Given the description of an element on the screen output the (x, y) to click on. 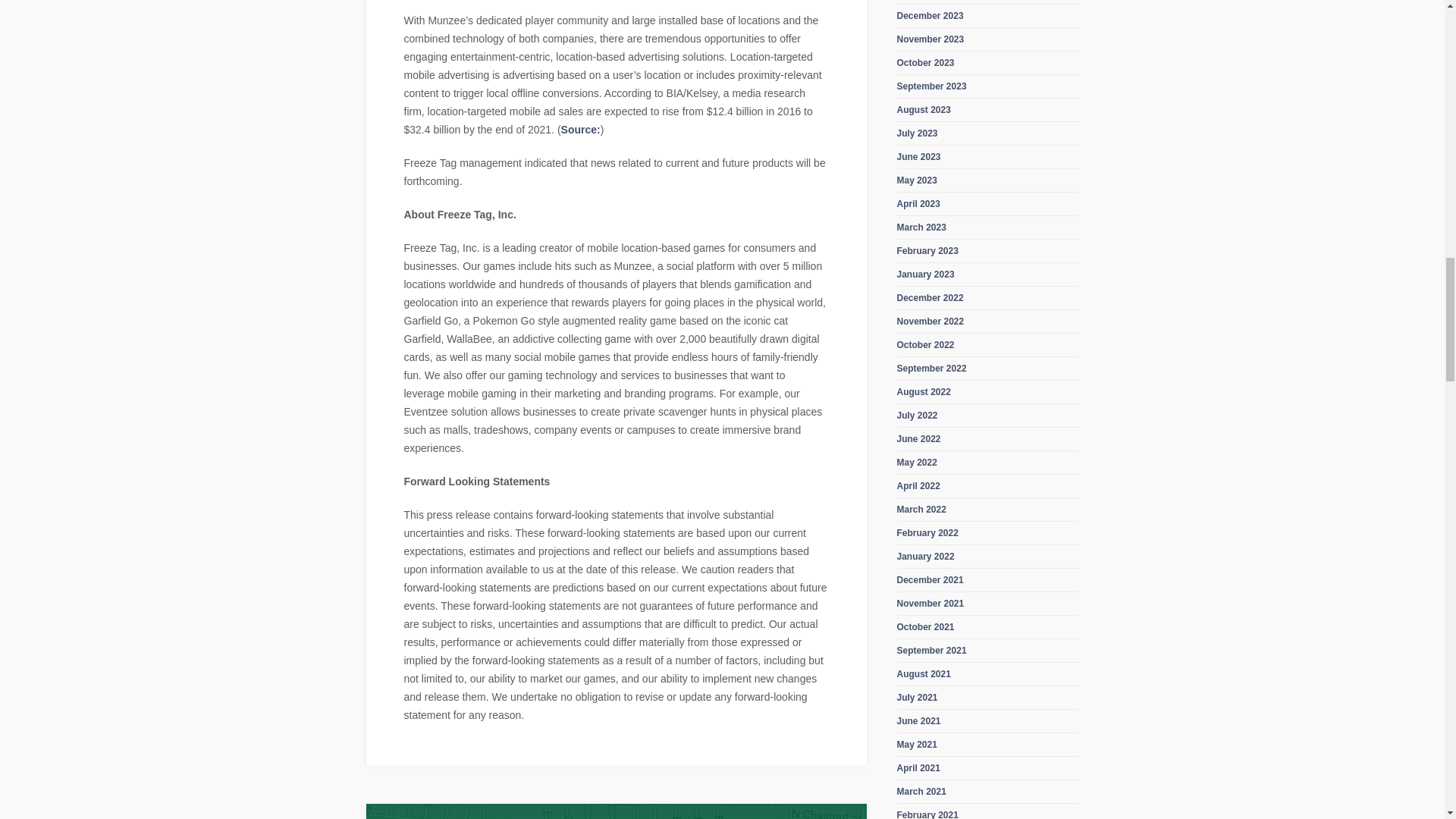
Source: (579, 129)
